Given the description of an element on the screen output the (x, y) to click on. 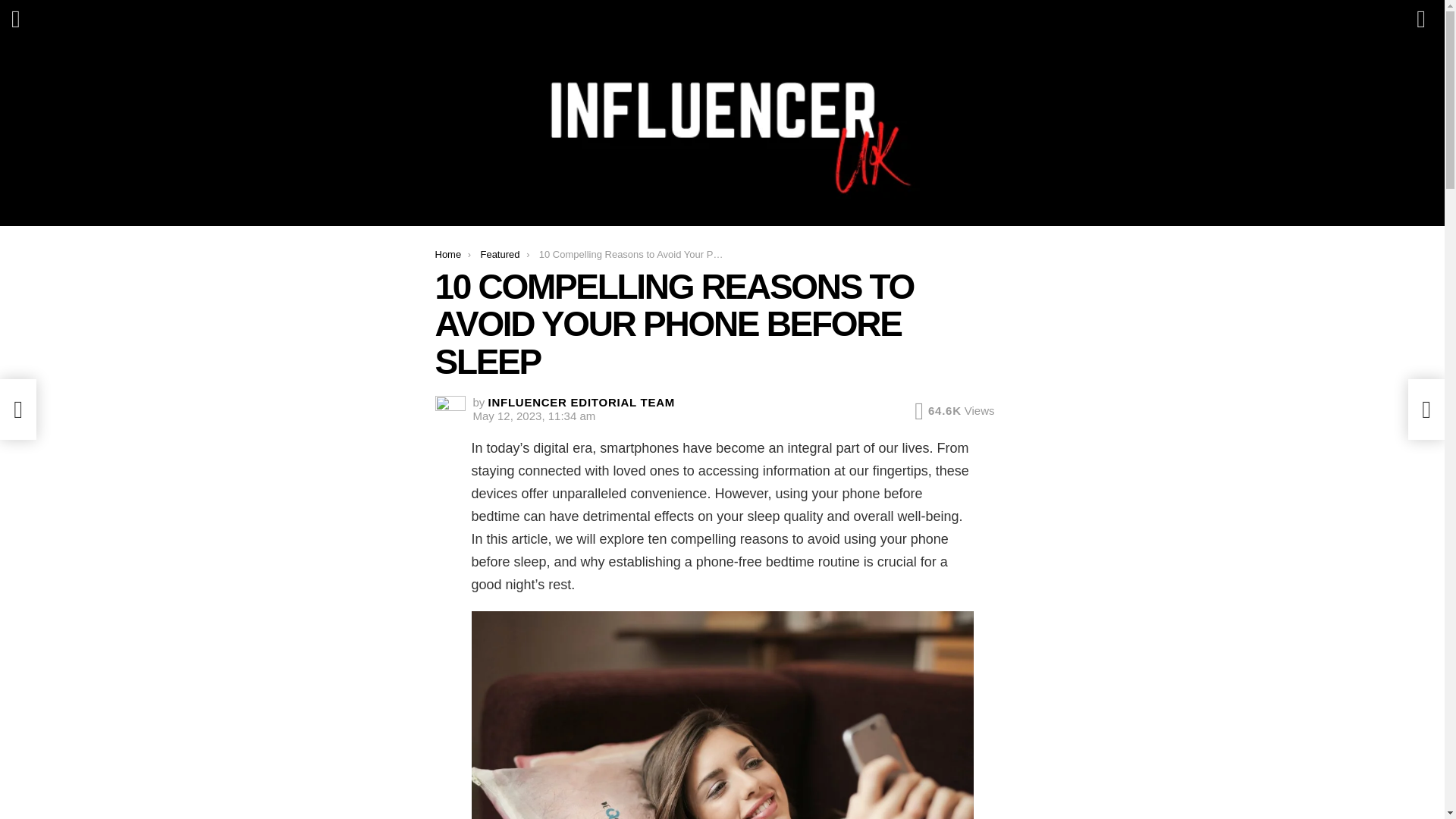
10 Compelling Reasons to Avoid Your Phone Before Sleep 1 (722, 714)
Featured (499, 254)
Home (448, 254)
INFLUENCER EDITORIAL TEAM (581, 401)
Posts by Influencer Editorial Team (581, 401)
